Given the description of an element on the screen output the (x, y) to click on. 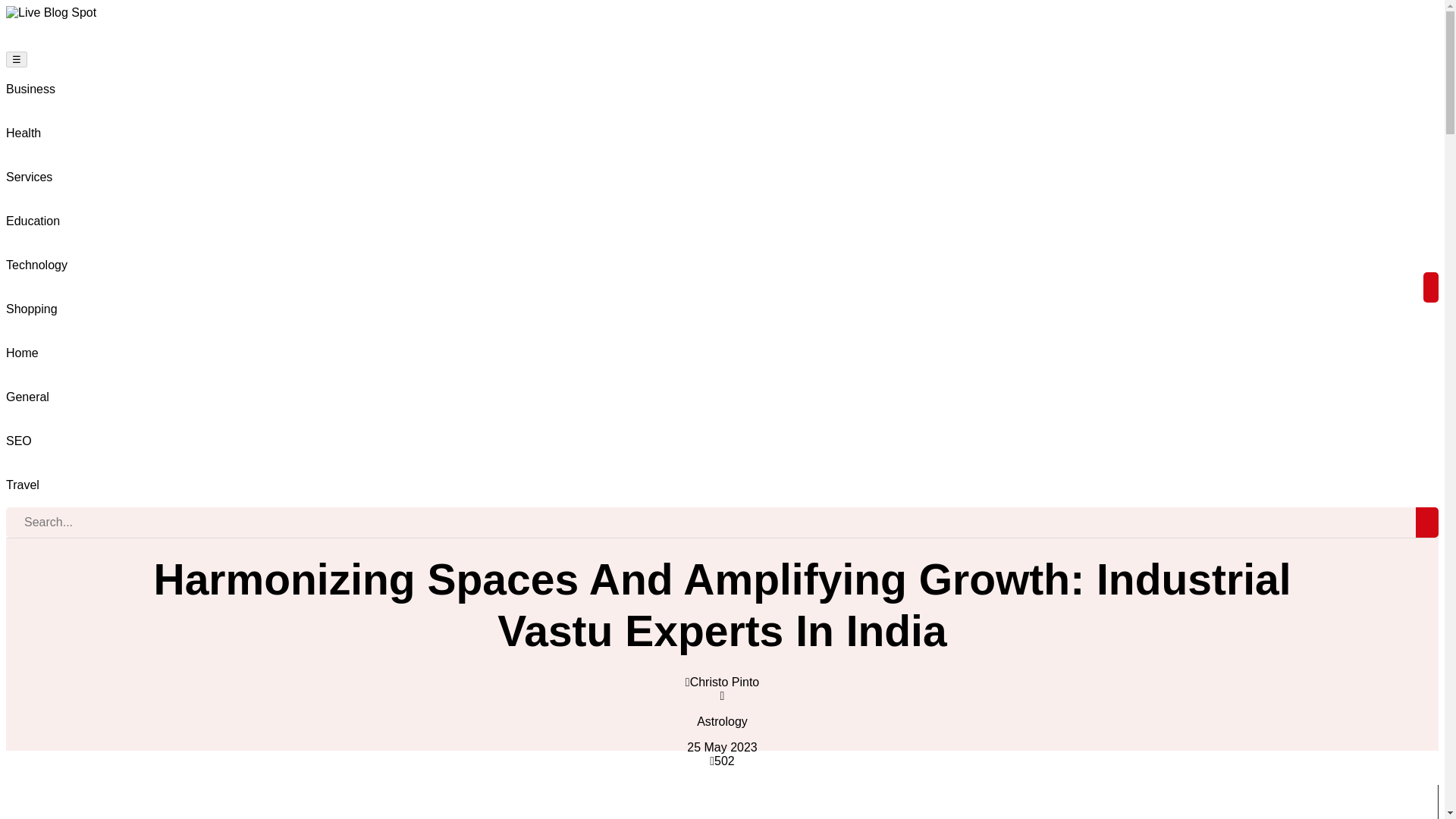
General (27, 397)
Business (30, 89)
Shopping (31, 309)
Education (32, 221)
Astrology (722, 721)
Live Blog Spot (50, 12)
Services (28, 177)
Technology (35, 265)
Posts by Christo Pinto (725, 682)
Christo Pinto (725, 682)
